Given the description of an element on the screen output the (x, y) to click on. 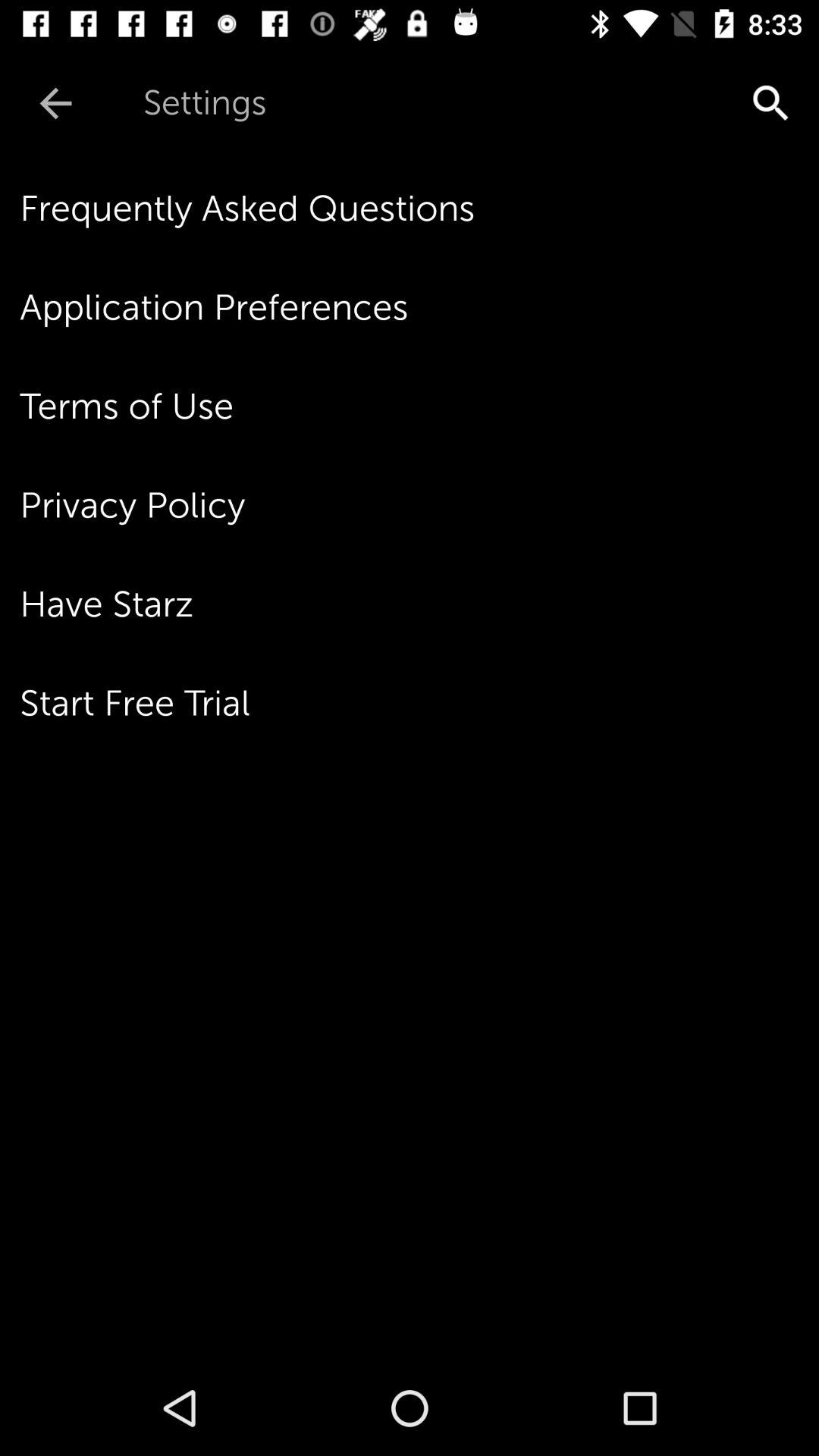
click the item below frequently asked questions icon (419, 307)
